Given the description of an element on the screen output the (x, y) to click on. 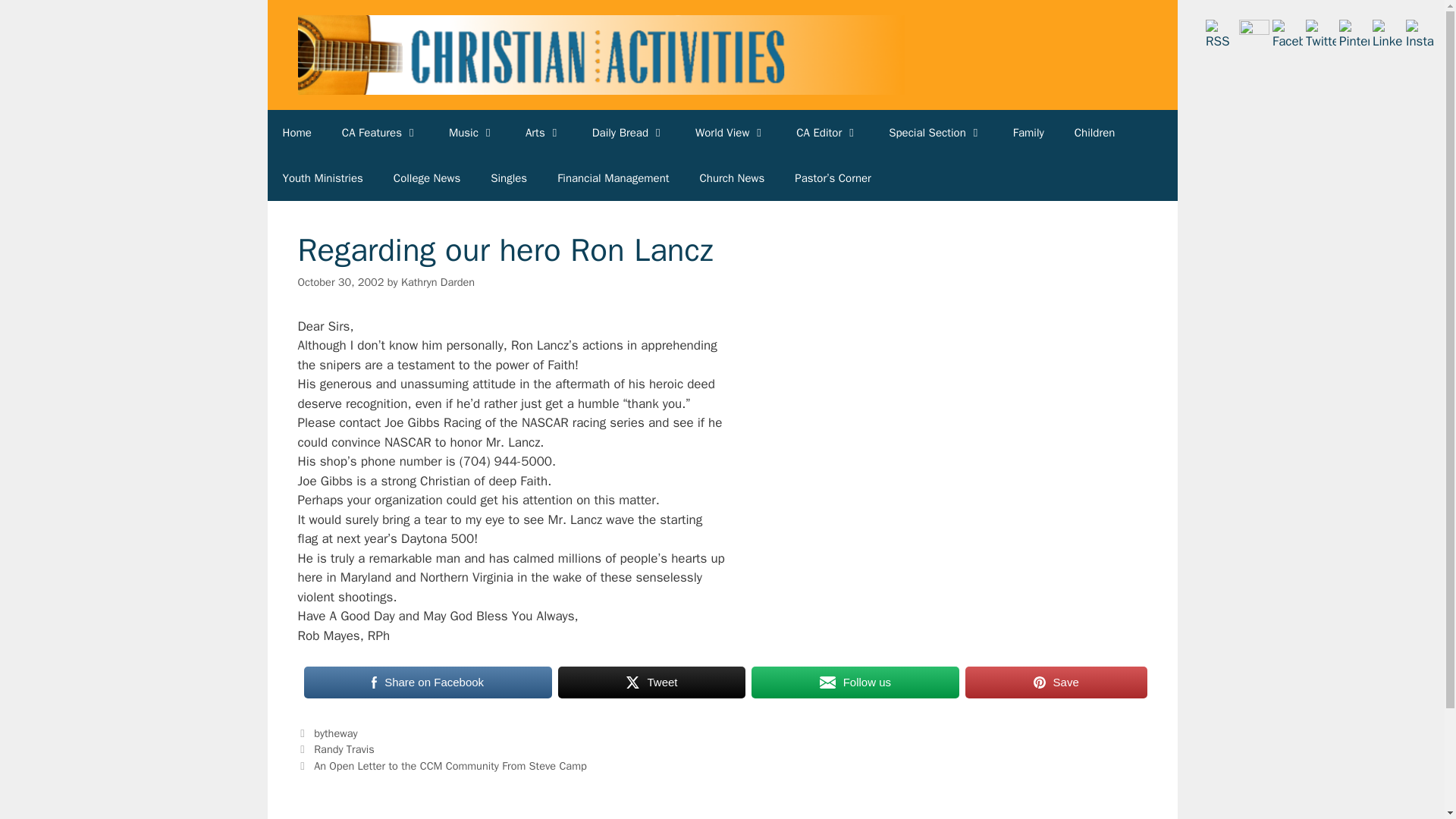
Youth Ministries (321, 177)
CA Features (379, 132)
Arts (543, 132)
Music (472, 132)
CA Editor (826, 132)
Special Section (935, 132)
Children (1095, 132)
View all posts by Kathryn Darden (437, 282)
Singles (508, 177)
Home (296, 132)
